Given the description of an element on the screen output the (x, y) to click on. 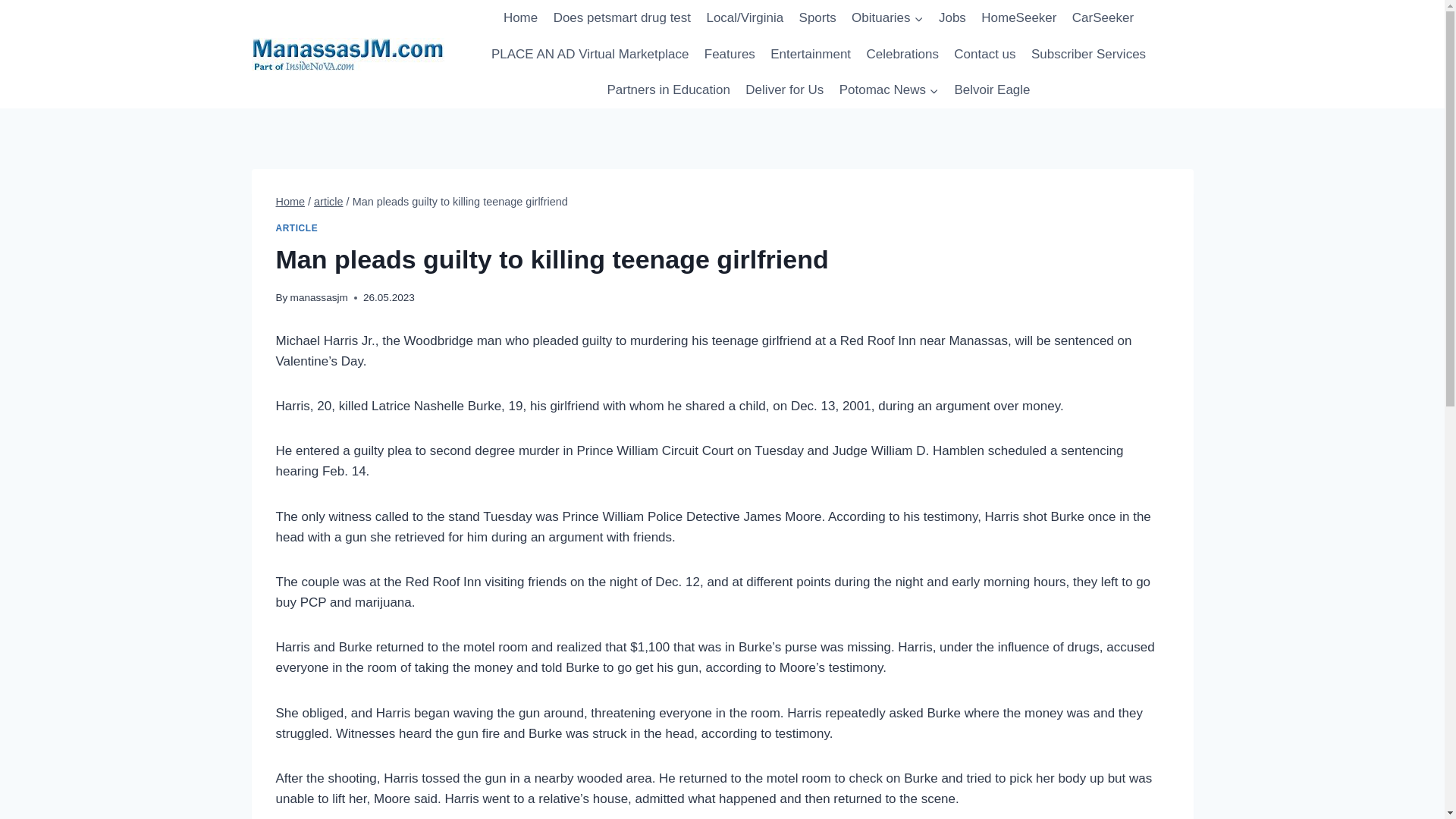
Subscriber Services (1088, 54)
Potomac News (888, 90)
manassasjm (318, 297)
PLACE AN AD Virtual Marketplace (590, 54)
Home (290, 201)
ARTICLE (297, 227)
Deliver for Us (784, 90)
Sports (817, 18)
Home (521, 18)
Features (729, 54)
Celebrations (902, 54)
Belvoir Eagle (992, 90)
Contact us (984, 54)
Obituaries (887, 18)
HomeSeeker (1019, 18)
